Given the description of an element on the screen output the (x, y) to click on. 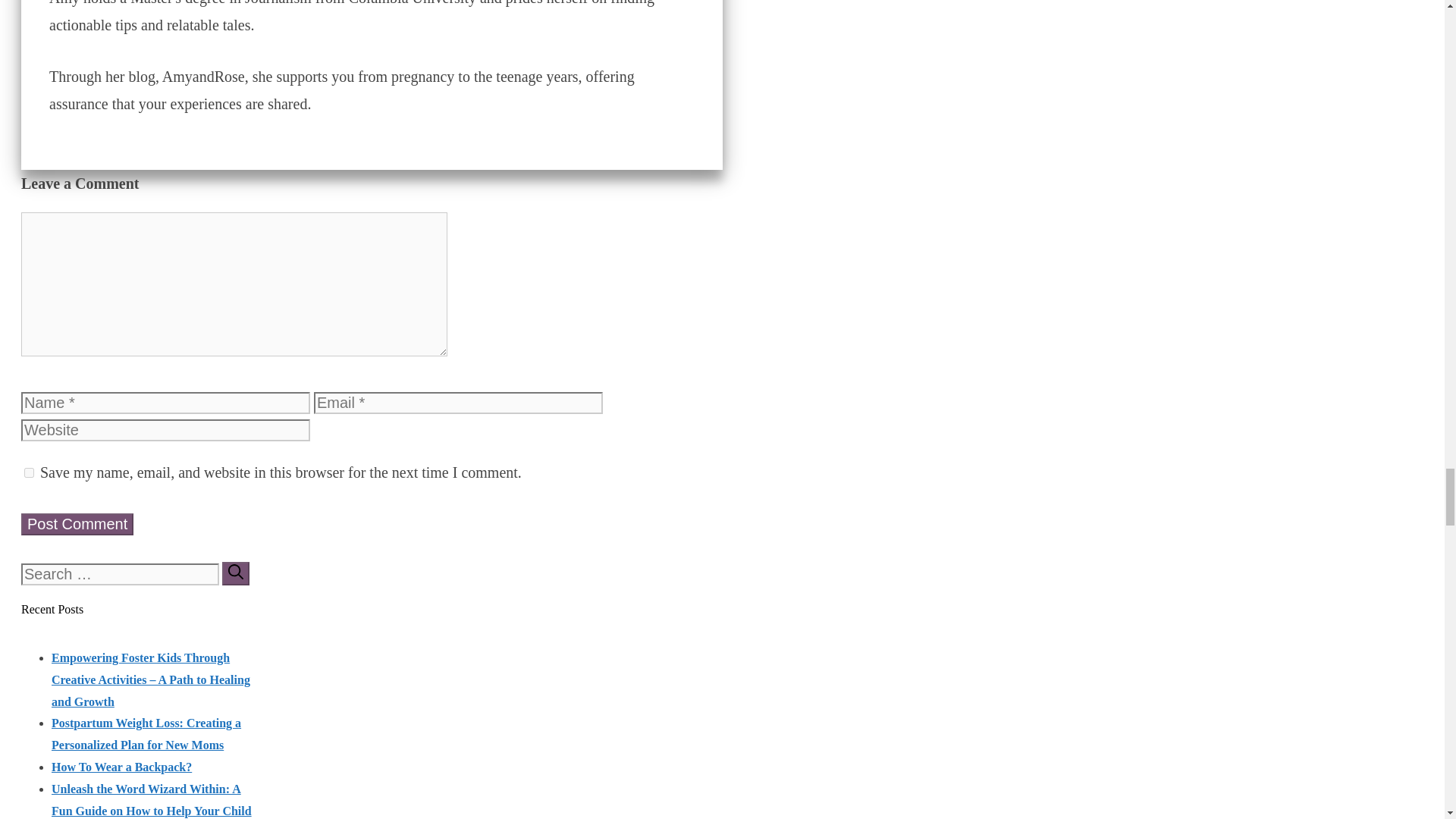
Post Comment (77, 524)
yes (28, 472)
